Given the description of an element on the screen output the (x, y) to click on. 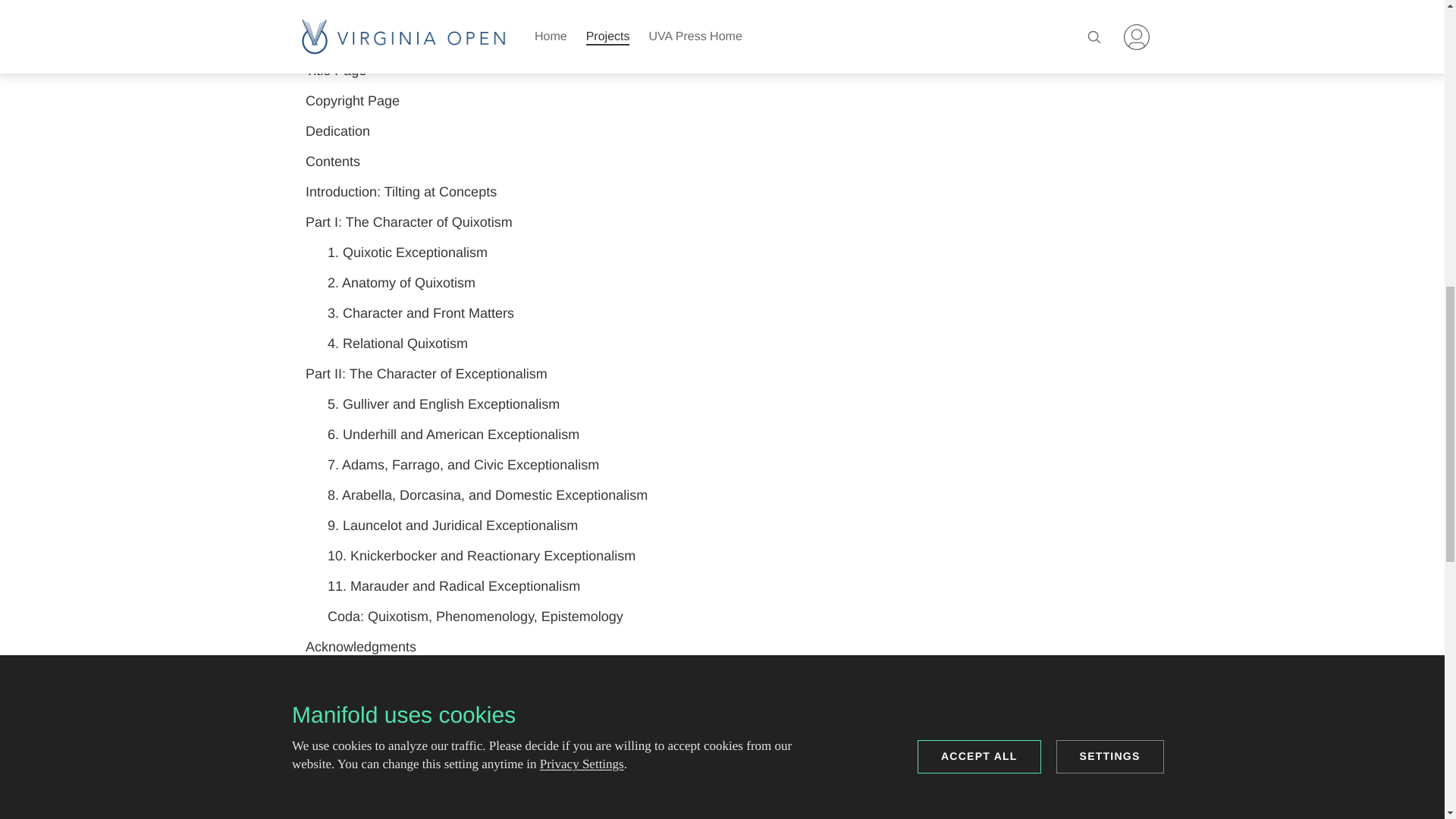
Cover (722, 40)
1. Quixotic Exceptionalism (722, 253)
6. Underhill and American Exceptionalism (722, 435)
Introduction: Tilting at Concepts (722, 192)
Part I: The Character of Quixotism (722, 223)
4. Relational Quixotism (722, 344)
3. Character and Front Matters (722, 313)
Part II: The Character of Exceptionalism (722, 374)
8. Arabella, Dorcasina, and Domestic Exceptionalism (722, 495)
7. Adams, Farrago, and Civic Exceptionalism (722, 465)
